Given the description of an element on the screen output the (x, y) to click on. 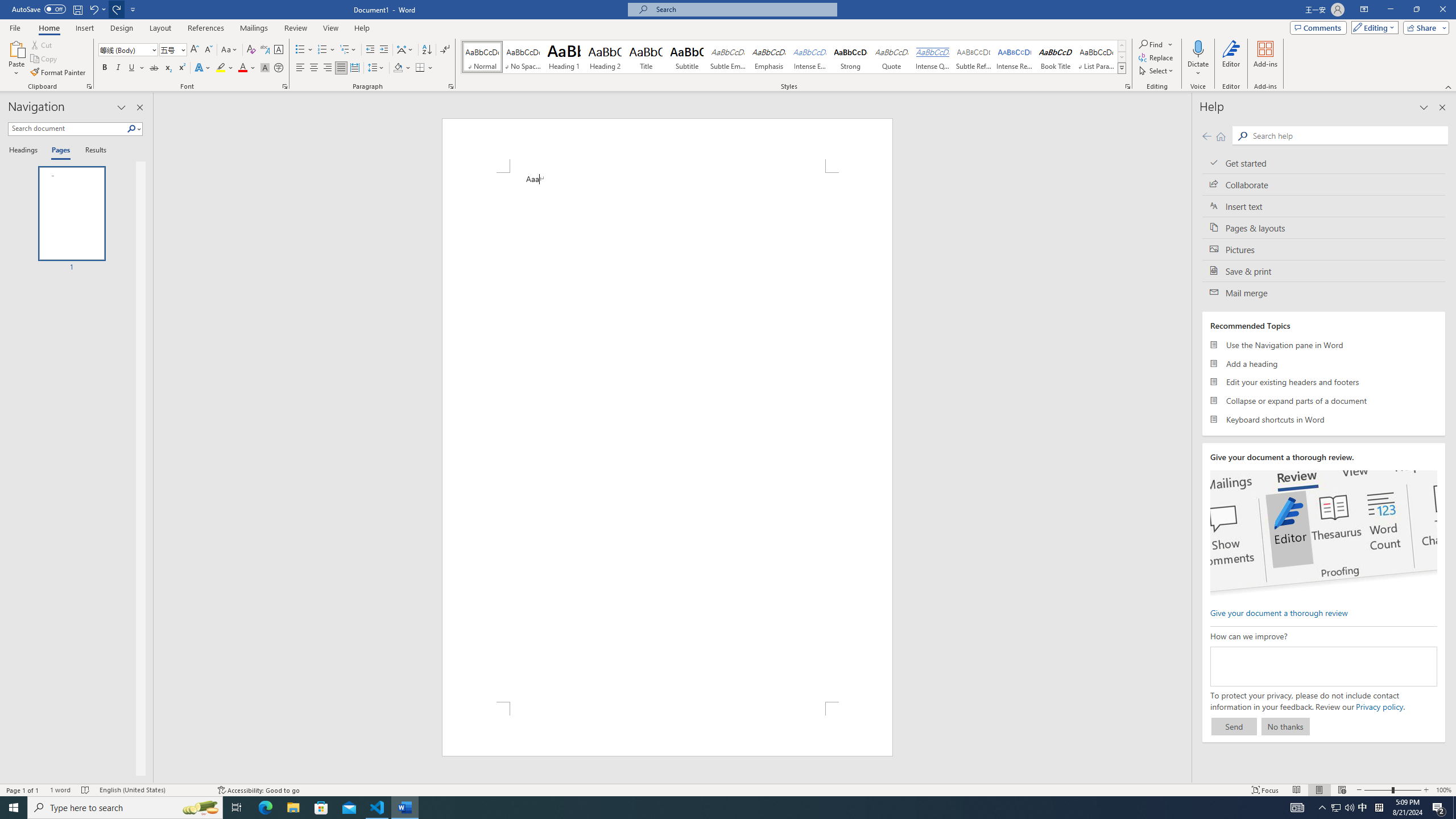
Title (646, 56)
Align Right (327, 67)
Change Case (229, 49)
Asian Layout (405, 49)
Headings (25, 150)
